Given the description of an element on the screen output the (x, y) to click on. 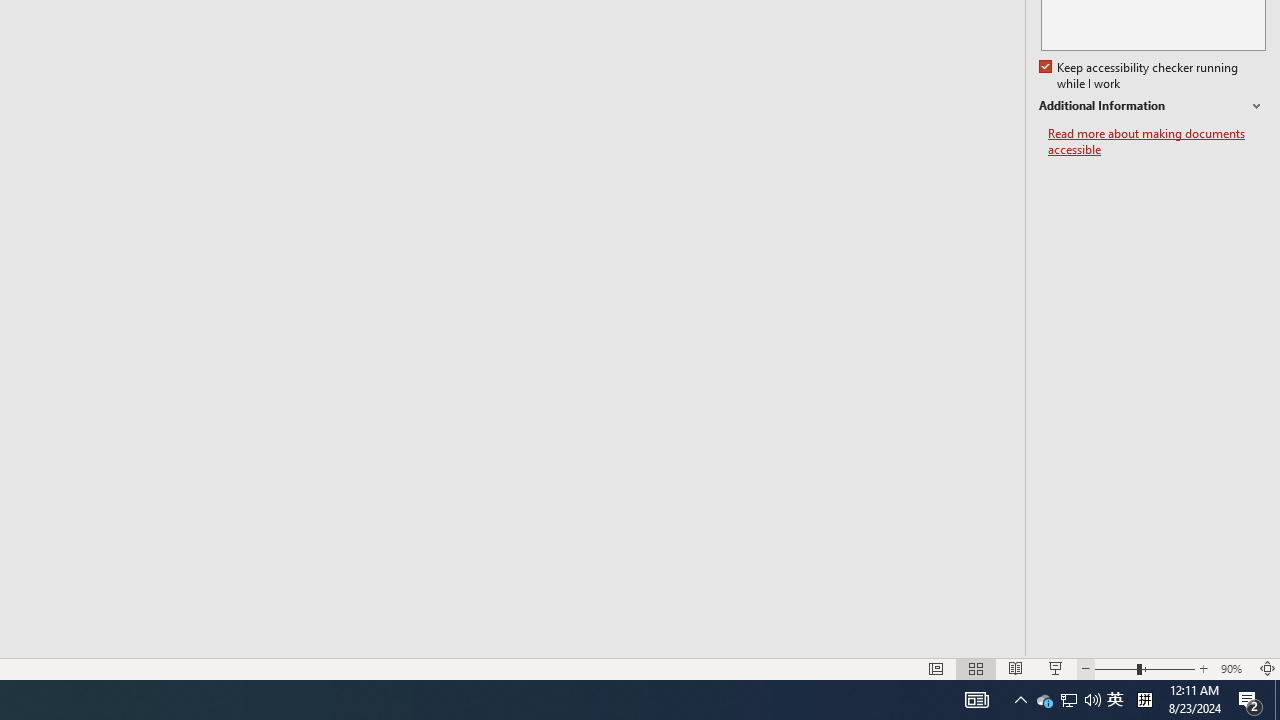
Zoom 90% (1234, 668)
